Given the description of an element on the screen output the (x, y) to click on. 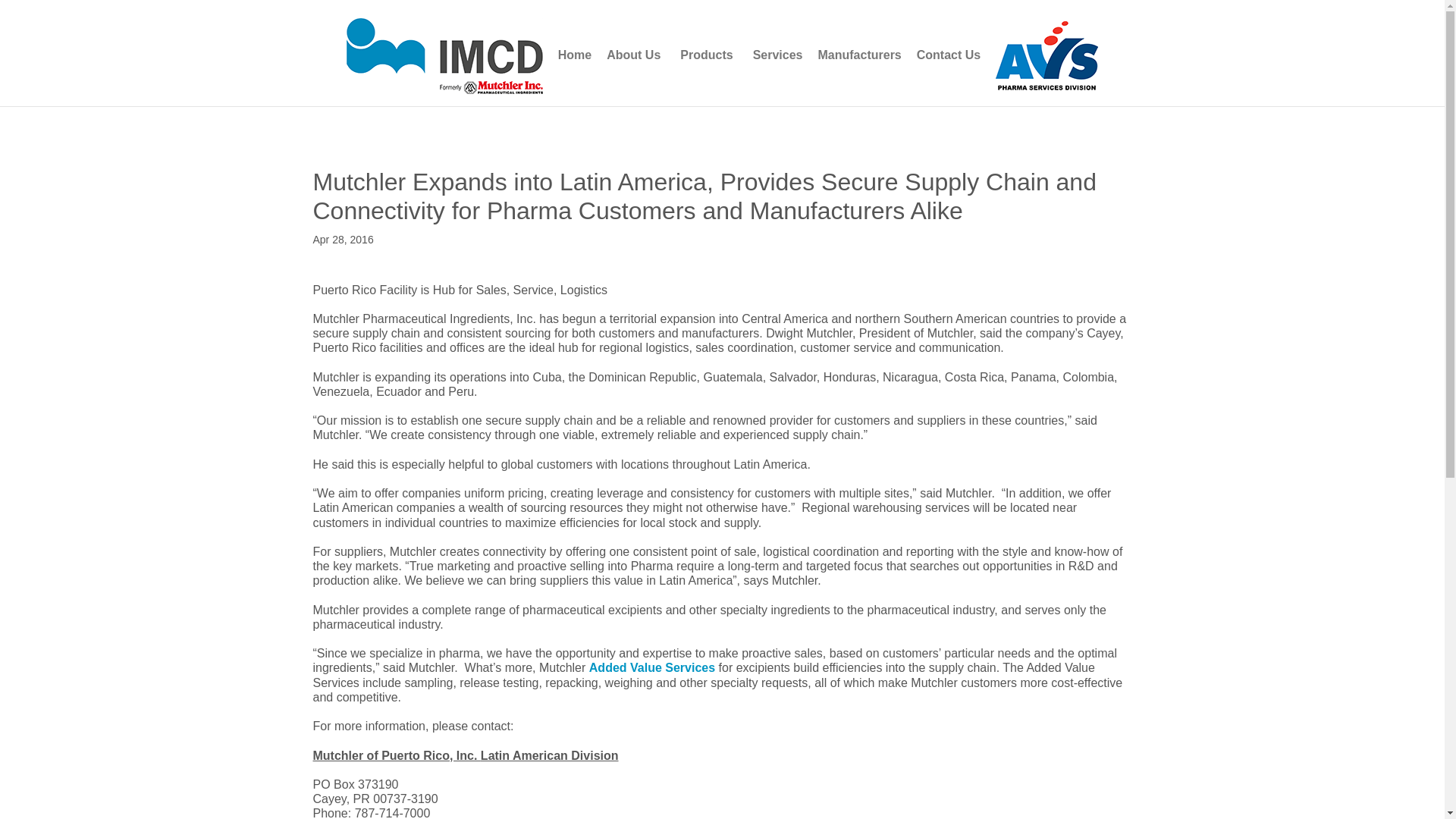
Manufacturers (859, 54)
Contact Us (948, 54)
Added Value Services (651, 667)
